Given the description of an element on the screen output the (x, y) to click on. 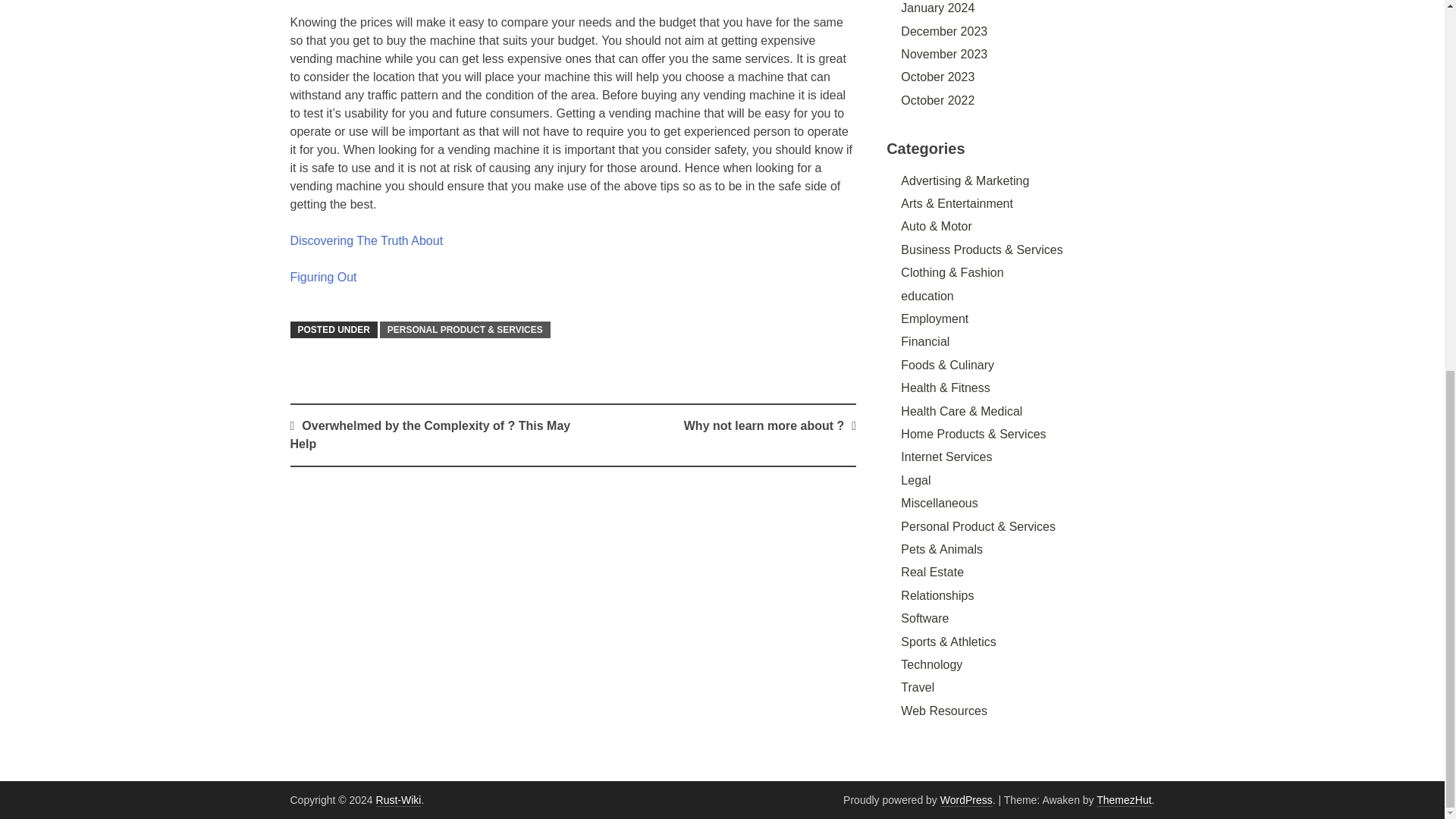
December 2023 (944, 31)
Employment (934, 318)
January 2024 (937, 7)
October 2023 (937, 76)
Discovering The Truth About (365, 240)
Financial (925, 341)
Rust-Wiki (398, 799)
November 2023 (944, 53)
education (927, 295)
Overwhelmed by the Complexity of ? This May Help (429, 434)
Why not learn more about ? (764, 425)
Figuring Out (322, 277)
October 2022 (937, 100)
WordPress (966, 799)
